Given the description of an element on the screen output the (x, y) to click on. 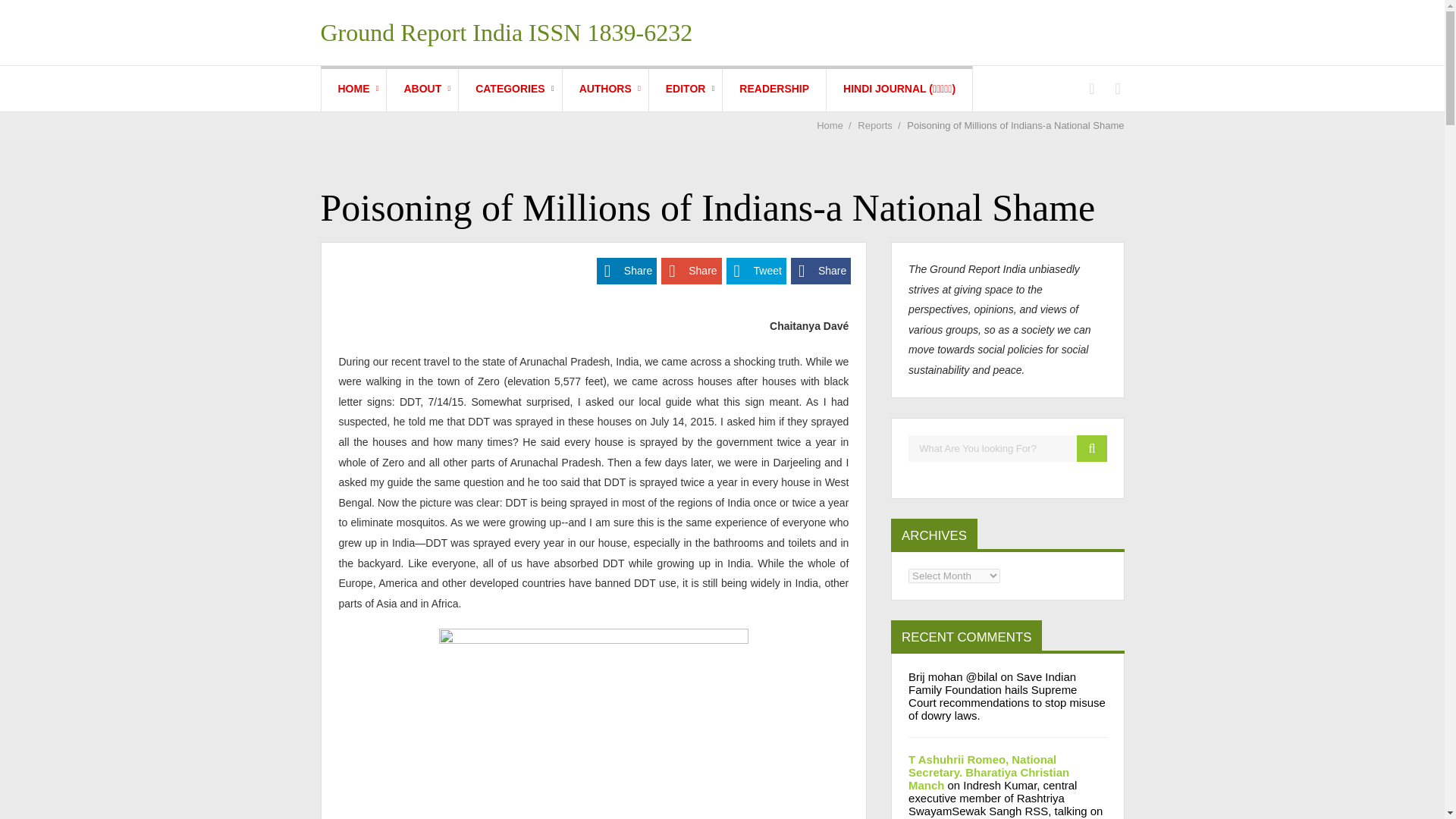
ABOUT (422, 88)
Ground Report India ISSN 1839-6232 (506, 32)
HOME (354, 88)
200,000 subscribers in around 100 countries (773, 88)
CATEGORIES (509, 88)
